Given the description of an element on the screen output the (x, y) to click on. 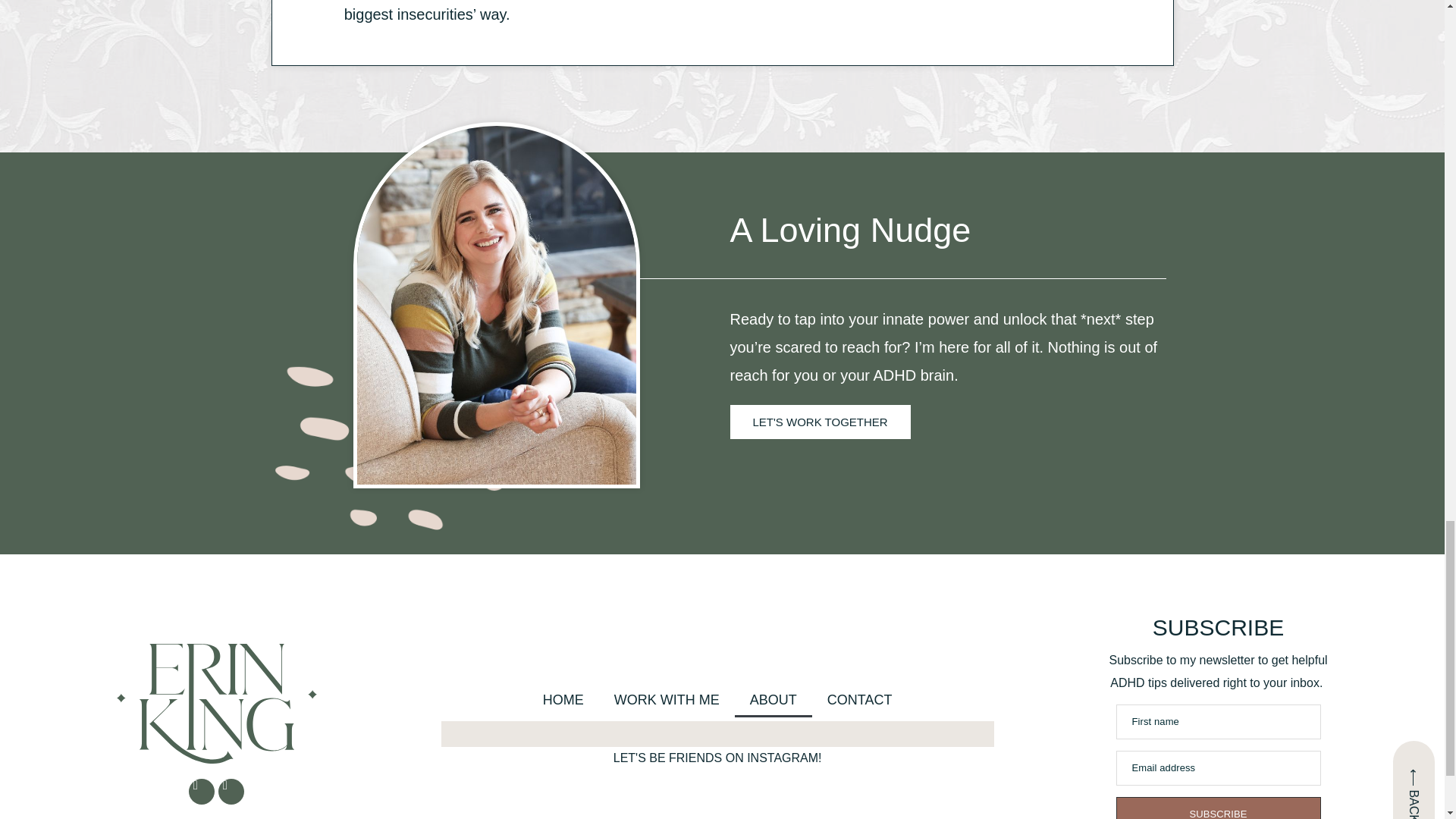
ABOUT (773, 699)
LET'S WORK TOGETHER (819, 421)
HOME (562, 699)
CONTACT (859, 699)
WORK WITH ME (666, 699)
SUBSCRIBE (1218, 807)
